Given the description of an element on the screen output the (x, y) to click on. 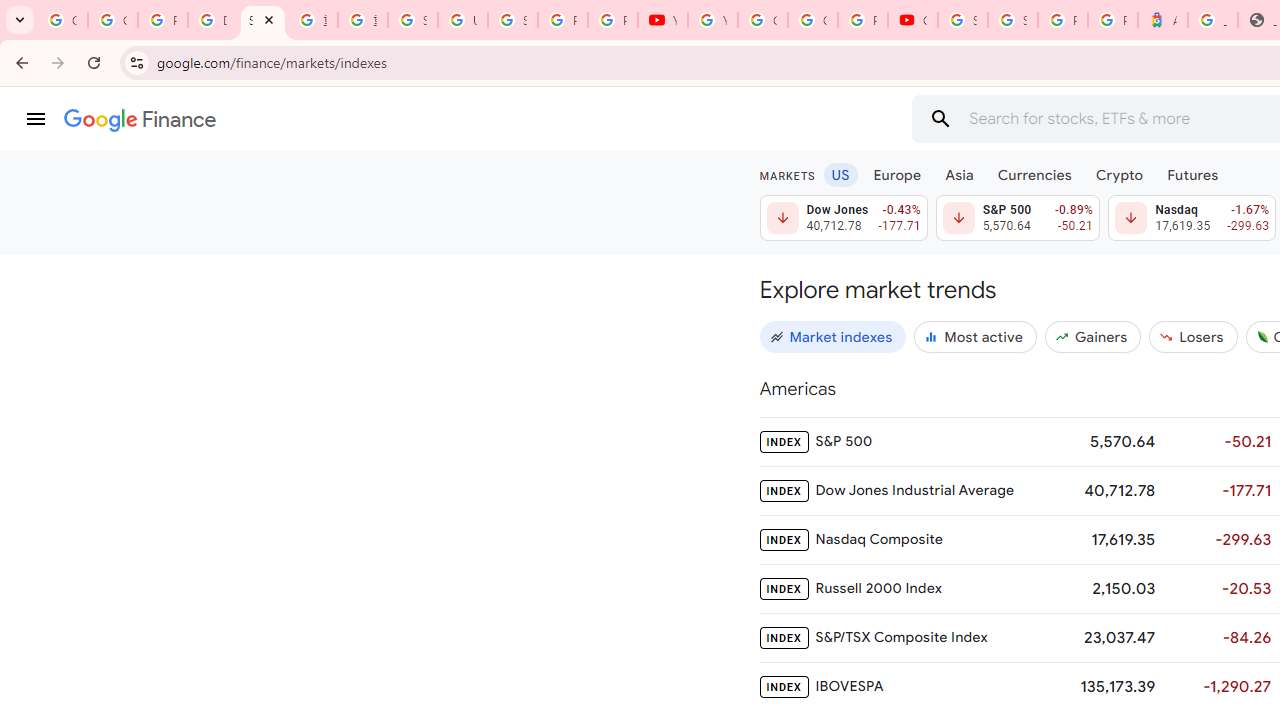
Atour Hotel - Google hotels (1162, 20)
Currencies (1034, 174)
US (840, 174)
GLeaf logo (1261, 336)
YouTube (712, 20)
Search (939, 118)
Main menu (35, 119)
Sign in - Google Accounts (1013, 20)
S&P 500 5,570.64 Down by 0.89% -50.21 (1017, 218)
Dow Jones 40,712.78 Down by 0.43% -177.71 (843, 218)
